Given the description of an element on the screen output the (x, y) to click on. 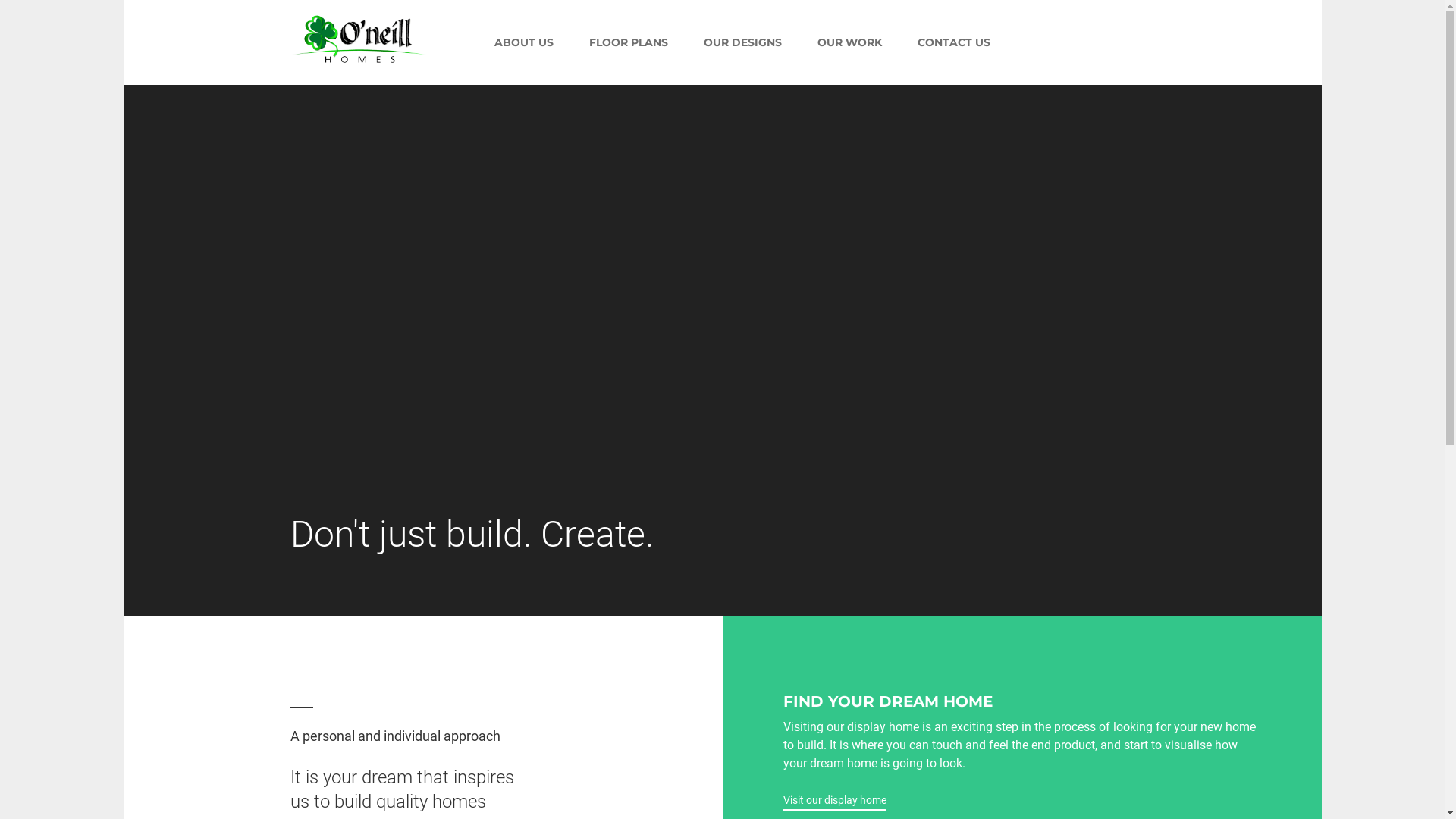
ABOUT US Element type: text (523, 42)
Visit our display home Element type: text (833, 800)
OUR WORK Element type: text (849, 42)
OUR DESIGNS Element type: text (742, 42)
FLOOR PLANS Element type: text (627, 42)
CONTACT US Element type: text (953, 42)
